Given the description of an element on the screen output the (x, y) to click on. 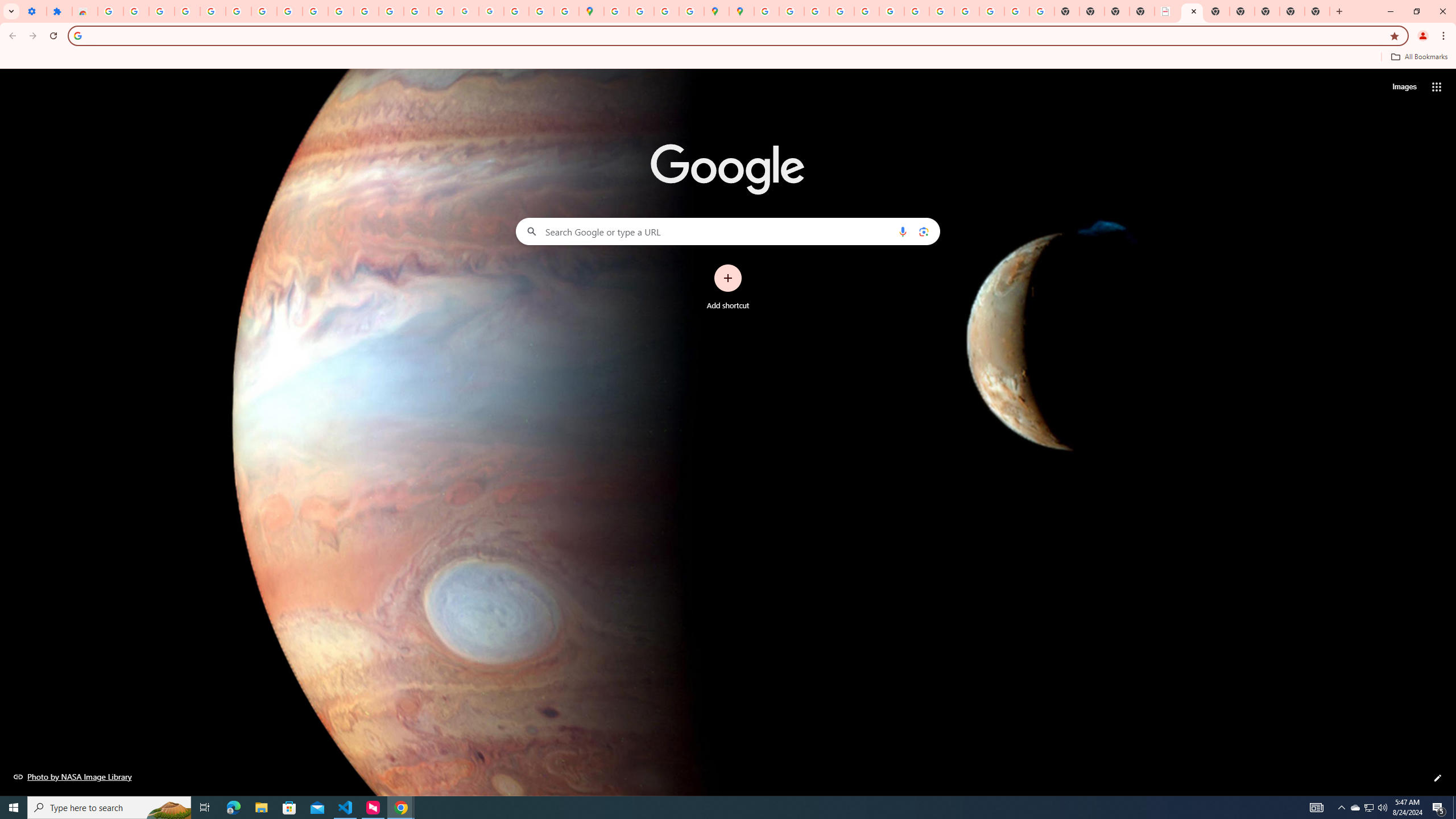
Google Account (289, 11)
Sign in - Google Accounts (238, 11)
Sign in - Google Accounts (110, 11)
Reviews: Helix Fruit Jump Arcade Game (84, 11)
